Given the description of an element on the screen output the (x, y) to click on. 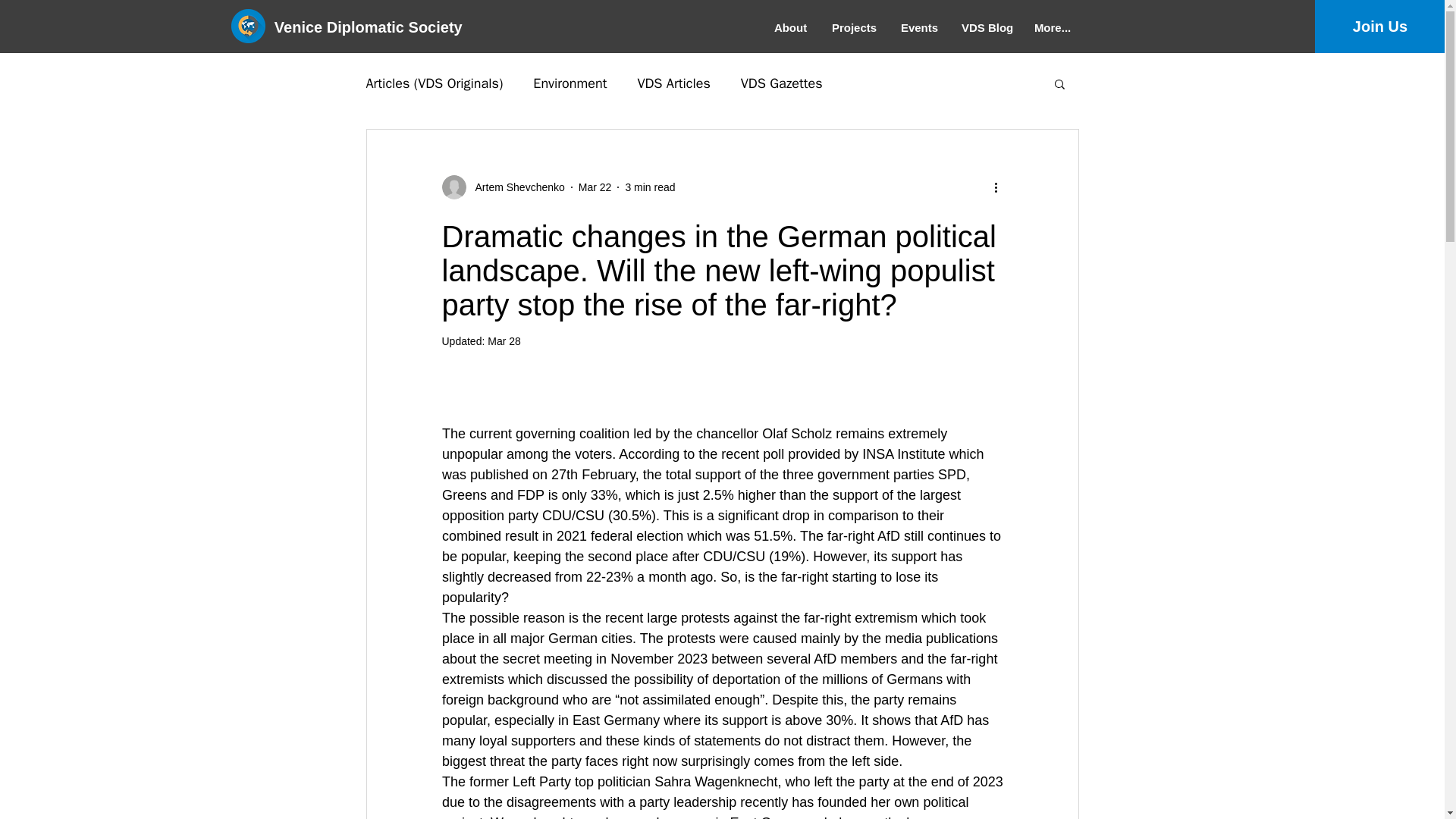
Artem Shevchenko (502, 187)
VDS Gazettes (781, 83)
VDS Blog (986, 28)
Mar 28 (504, 340)
Projects (855, 28)
Environment (569, 83)
Mar 22 (594, 186)
Join Us (1380, 26)
3 min read (649, 186)
Artem Shevchenko (514, 186)
About (791, 28)
Events (919, 28)
VDS Articles (673, 83)
Venice Diplomatic Society (376, 27)
